Given the description of an element on the screen output the (x, y) to click on. 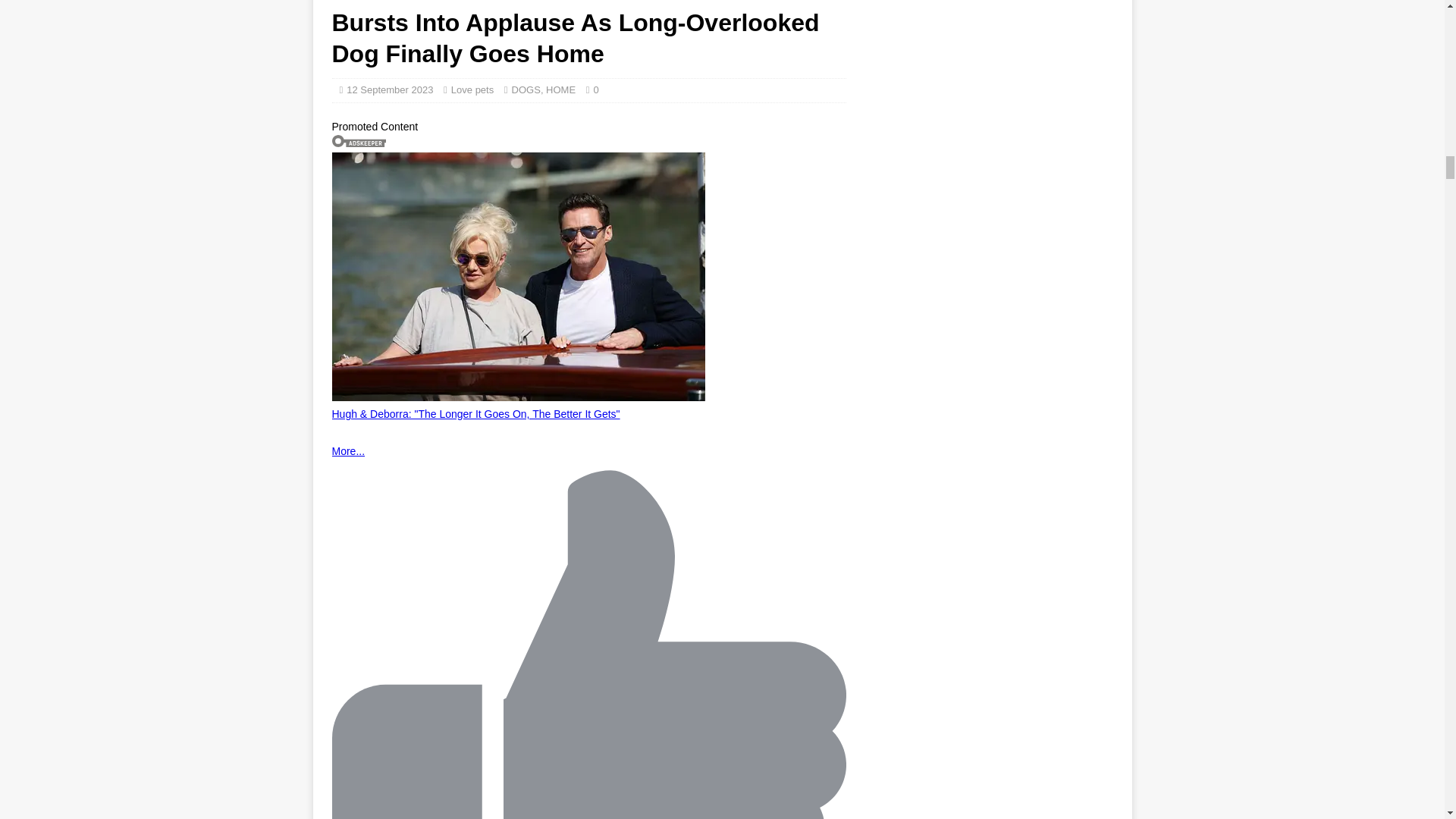
HOME (560, 89)
DOGS (526, 89)
12 September 2023 (389, 89)
Love pets (472, 89)
